Given the description of an element on the screen output the (x, y) to click on. 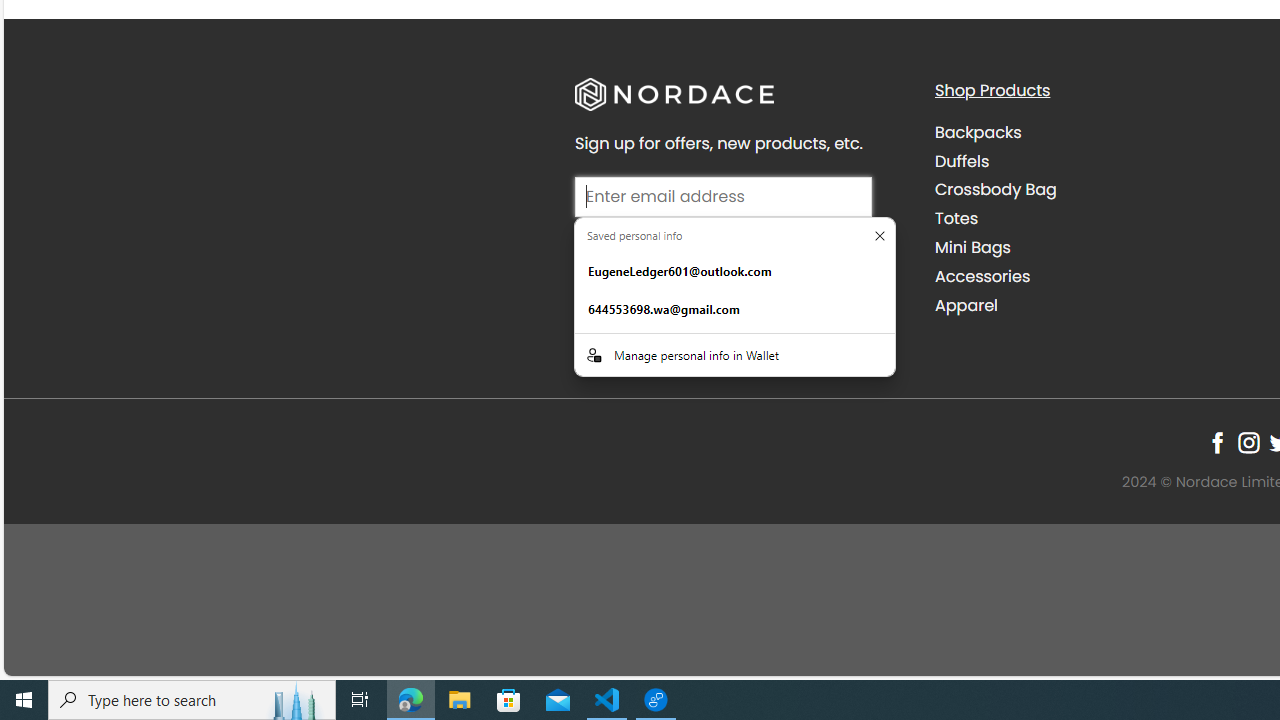
Crossbody Bag (1099, 190)
Apparel (966, 304)
Don't show saved information (879, 235)
Submit (722, 253)
Crossbody Bag (995, 189)
Totes (955, 219)
Manage personal info in Wallet (734, 354)
Mini Bags (972, 247)
Totes (1099, 218)
Duffels (1099, 161)
Follow on Facebook (1217, 442)
AutomationID: input_4_1 (722, 196)
EugeneLedger601@outlook.com. :Basic info suggestion. (734, 271)
Mini Bags (1099, 247)
Follow on Instagram (1248, 442)
